Given the description of an element on the screen output the (x, y) to click on. 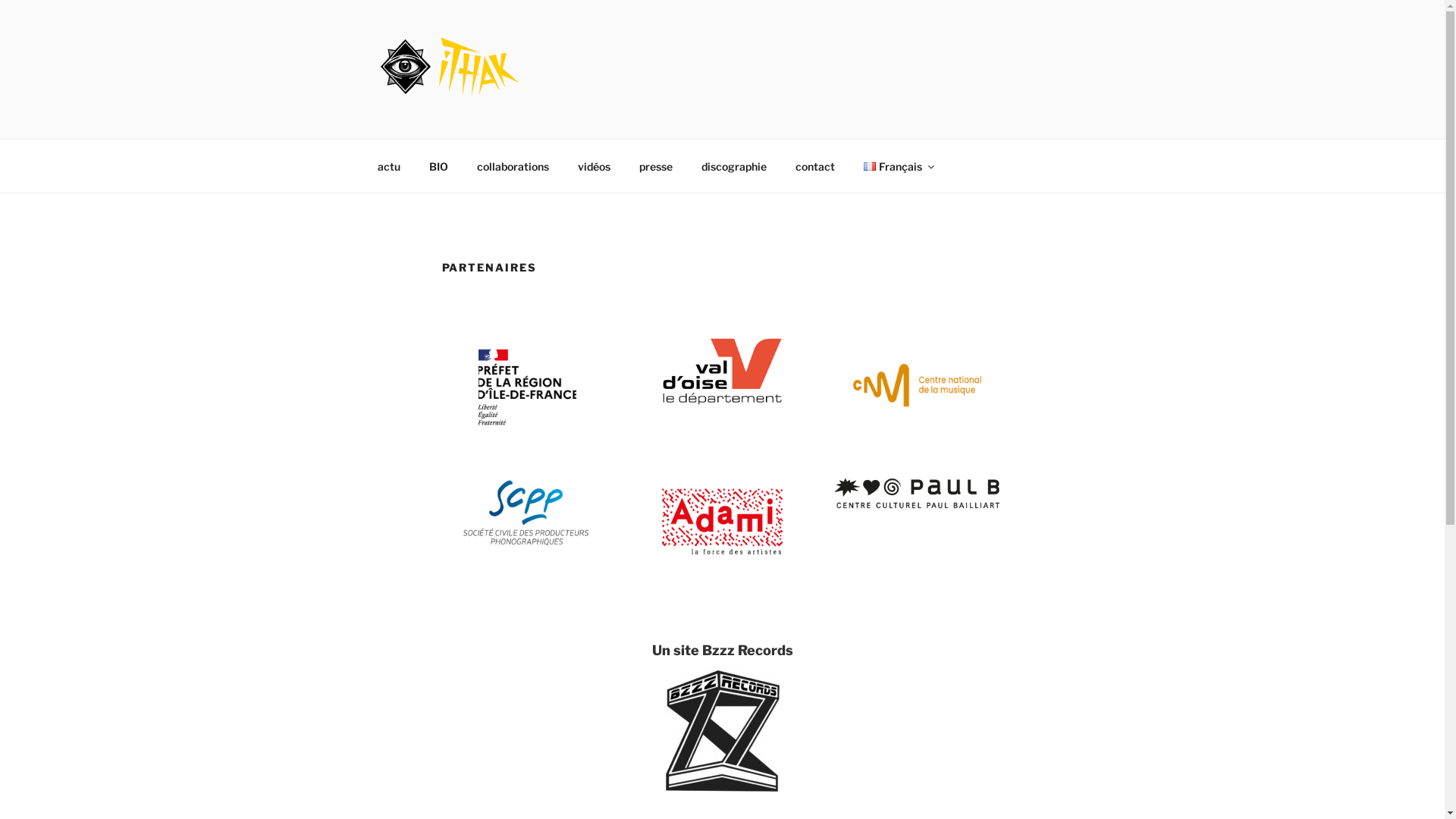
discographie Element type: text (734, 165)
contact Element type: text (815, 165)
presse Element type: text (656, 165)
ITHAK Element type: text (429, 118)
BIO Element type: text (438, 165)
actu Element type: text (388, 165)
collaborations Element type: text (513, 165)
